Given the description of an element on the screen output the (x, y) to click on. 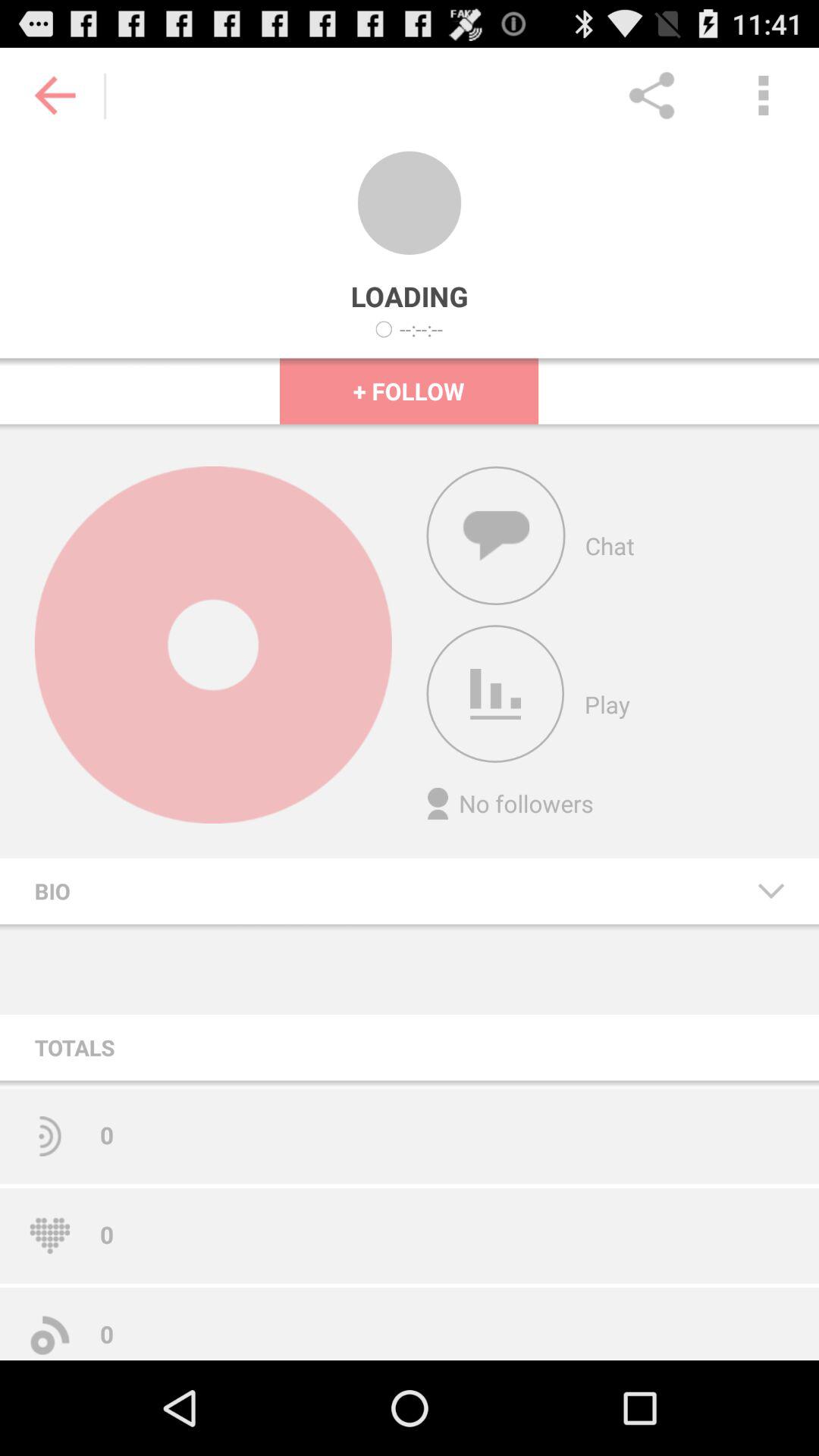
flip until --:--:-- (421, 329)
